Given the description of an element on the screen output the (x, y) to click on. 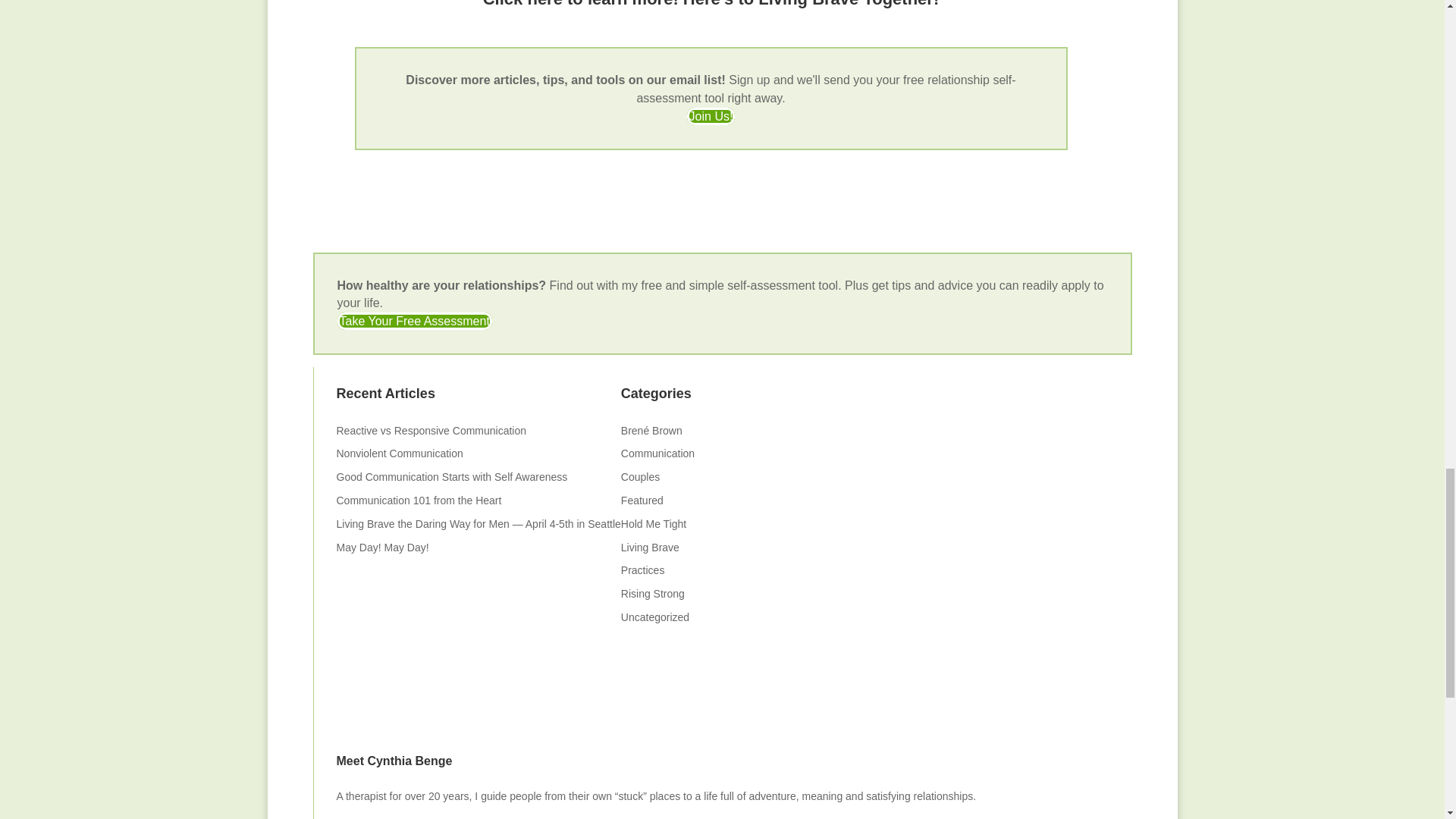
May Day! May Day! (382, 547)
Rising Strong (652, 593)
Communication 101 from the Heart (419, 500)
Living Brave (650, 547)
Practices (643, 570)
Hold Me Tight (653, 523)
Uncategorized (654, 616)
Featured (642, 500)
Communication (657, 453)
Reactive vs Responsive Communication  (432, 430)
